Given the description of an element on the screen output the (x, y) to click on. 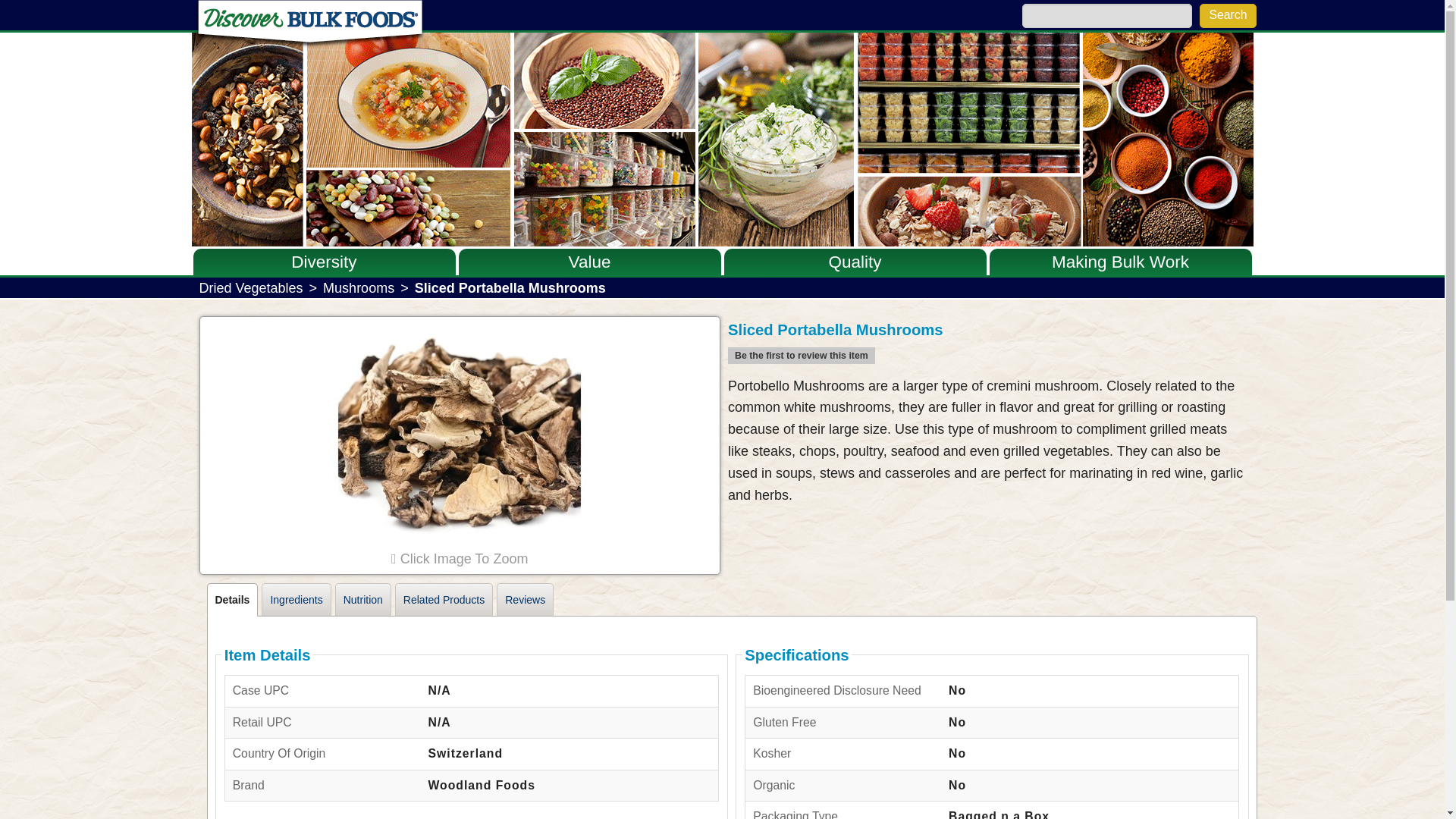
Bulk By Brand (323, 314)
Quality (854, 261)
Diversity (322, 261)
Making Bulk Work (1120, 261)
Search (1227, 15)
Details (232, 599)
Reviews (525, 599)
Recipes (1119, 287)
Dried Vegetables (250, 288)
Ingredients (296, 599)
Articles (323, 344)
Articles (1119, 317)
Bulk By Category (323, 287)
Mushrooms (358, 288)
Value (589, 261)
